Given the description of an element on the screen output the (x, y) to click on. 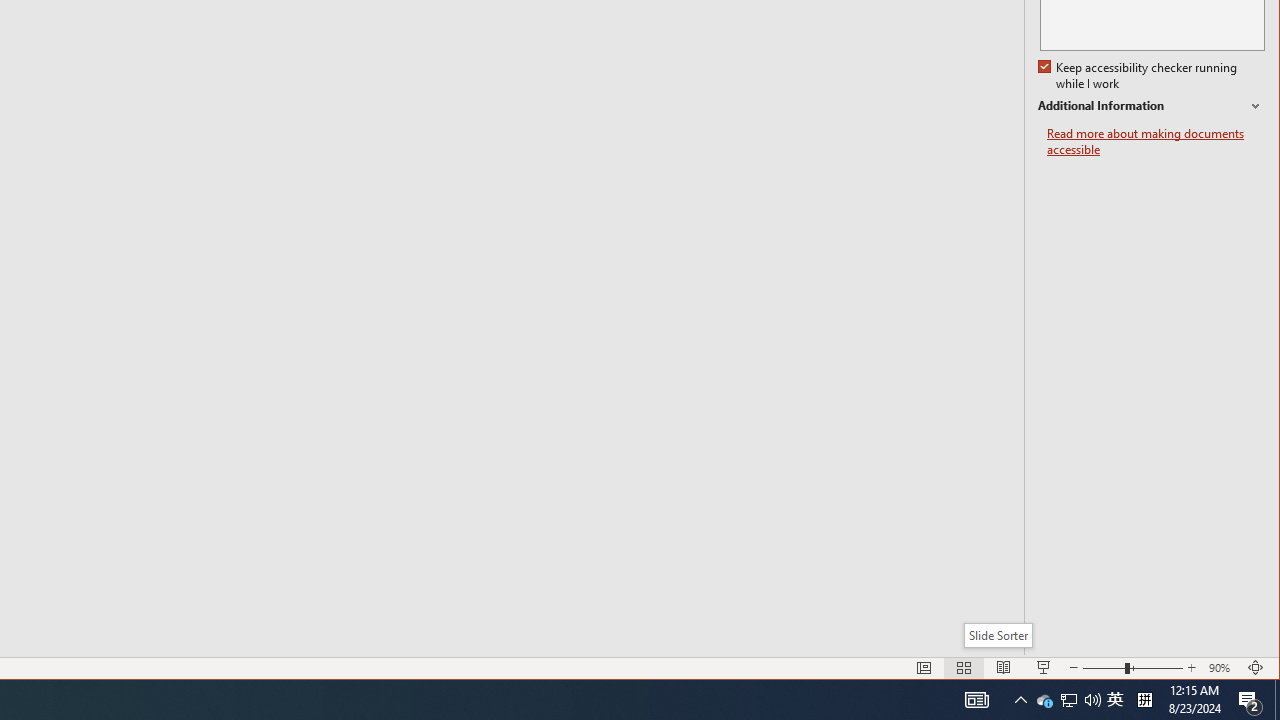
Additional Information (1151, 106)
User Promoted Notification Area (1068, 699)
Show desktop (1277, 699)
Tray Input Indicator - Chinese (Simplified, China) (1115, 699)
Read more about making documents accessible (1144, 699)
AutomationID: 4105 (1155, 142)
